Given the description of an element on the screen output the (x, y) to click on. 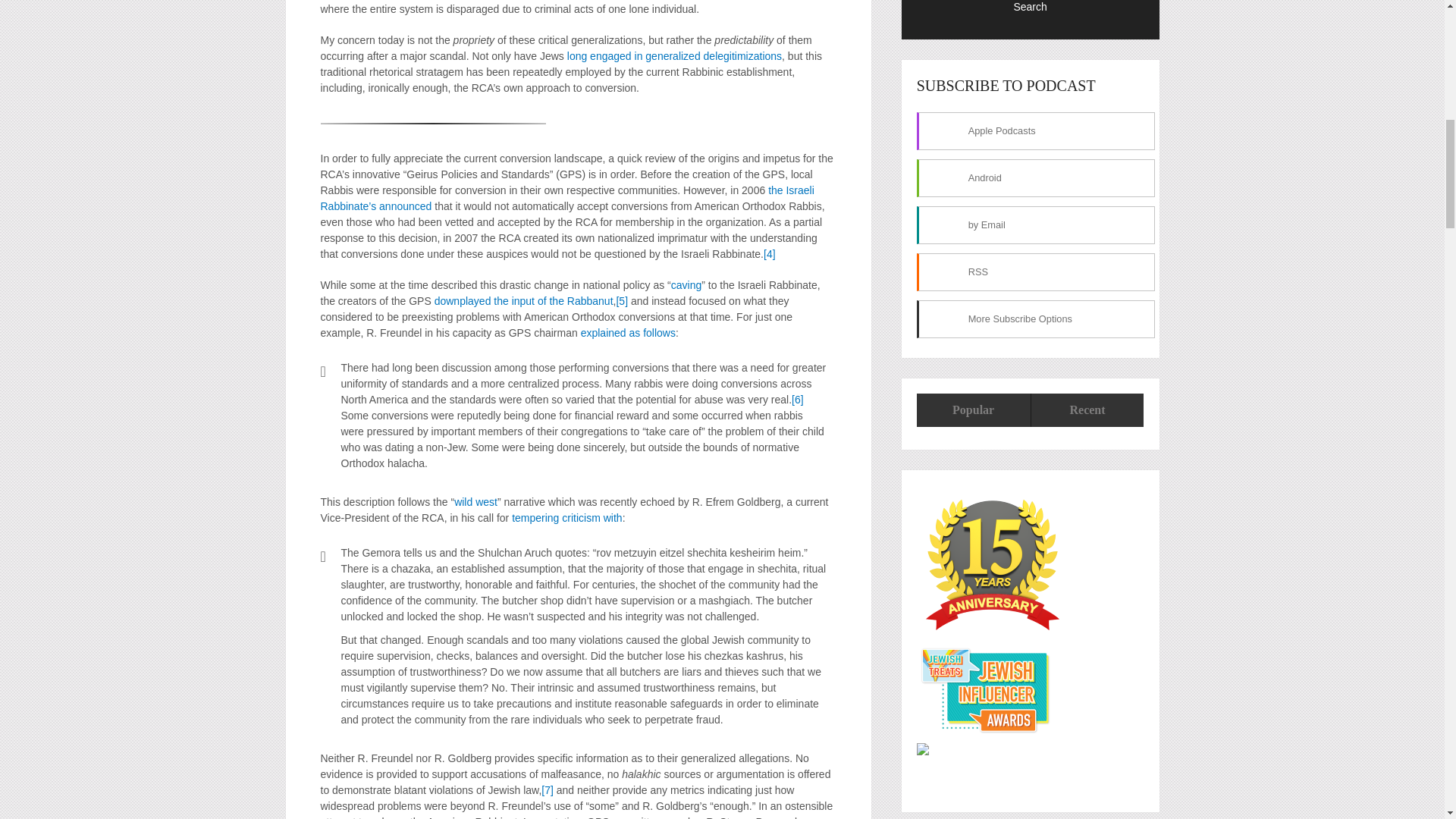
As opposed to differences of opinions. (547, 789)
